Given the description of an element on the screen output the (x, y) to click on. 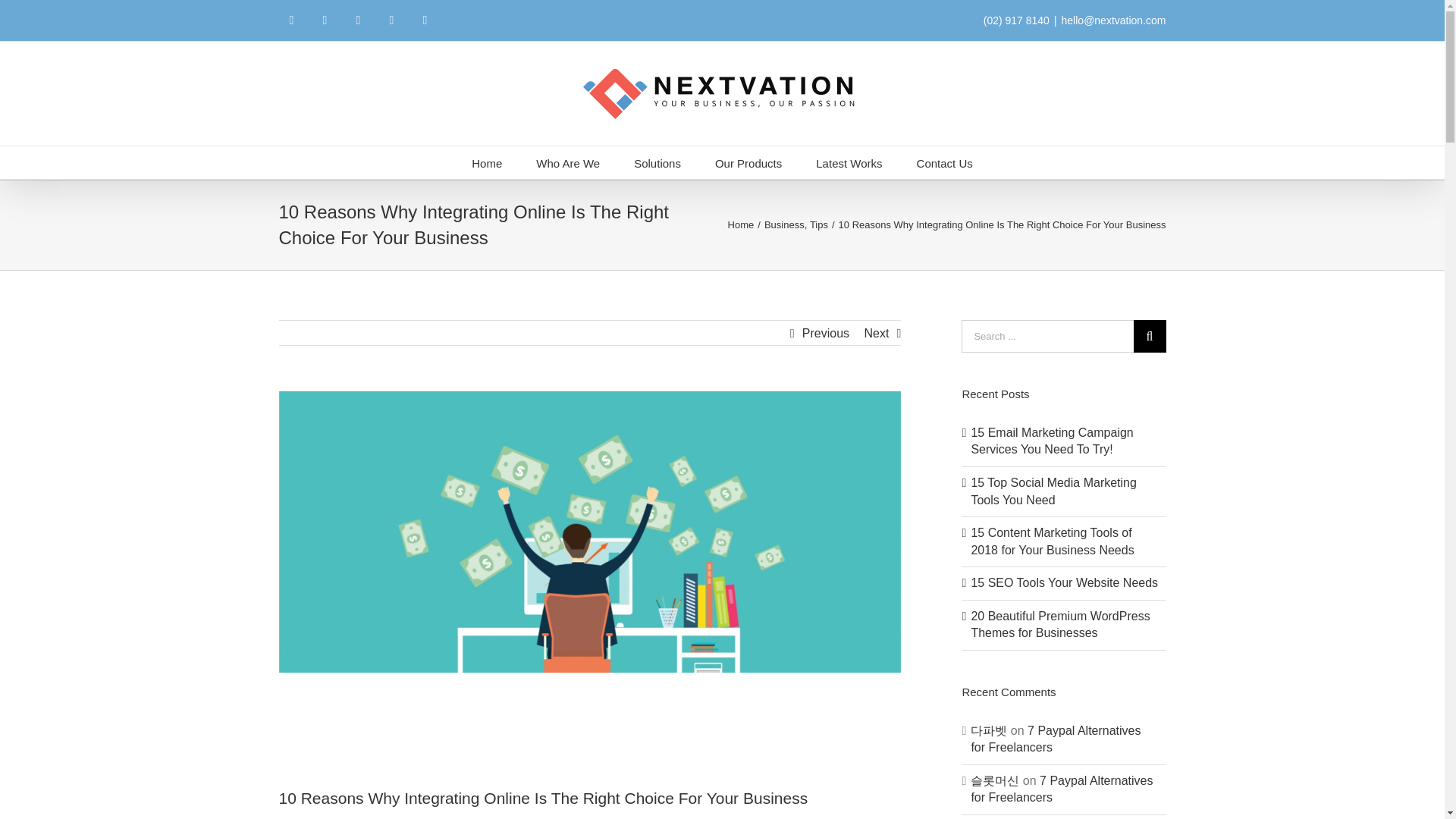
Our Products (747, 162)
Home (486, 162)
Home (741, 224)
Contact Us (944, 162)
Instagram (358, 20)
Facebook (291, 20)
Instagram (358, 20)
Next (875, 333)
Twitter (325, 20)
LinkedIn (391, 20)
Latest Works (848, 162)
Tips (818, 224)
Who Are We (567, 162)
Previous (825, 333)
Twitter (325, 20)
